Given the description of an element on the screen output the (x, y) to click on. 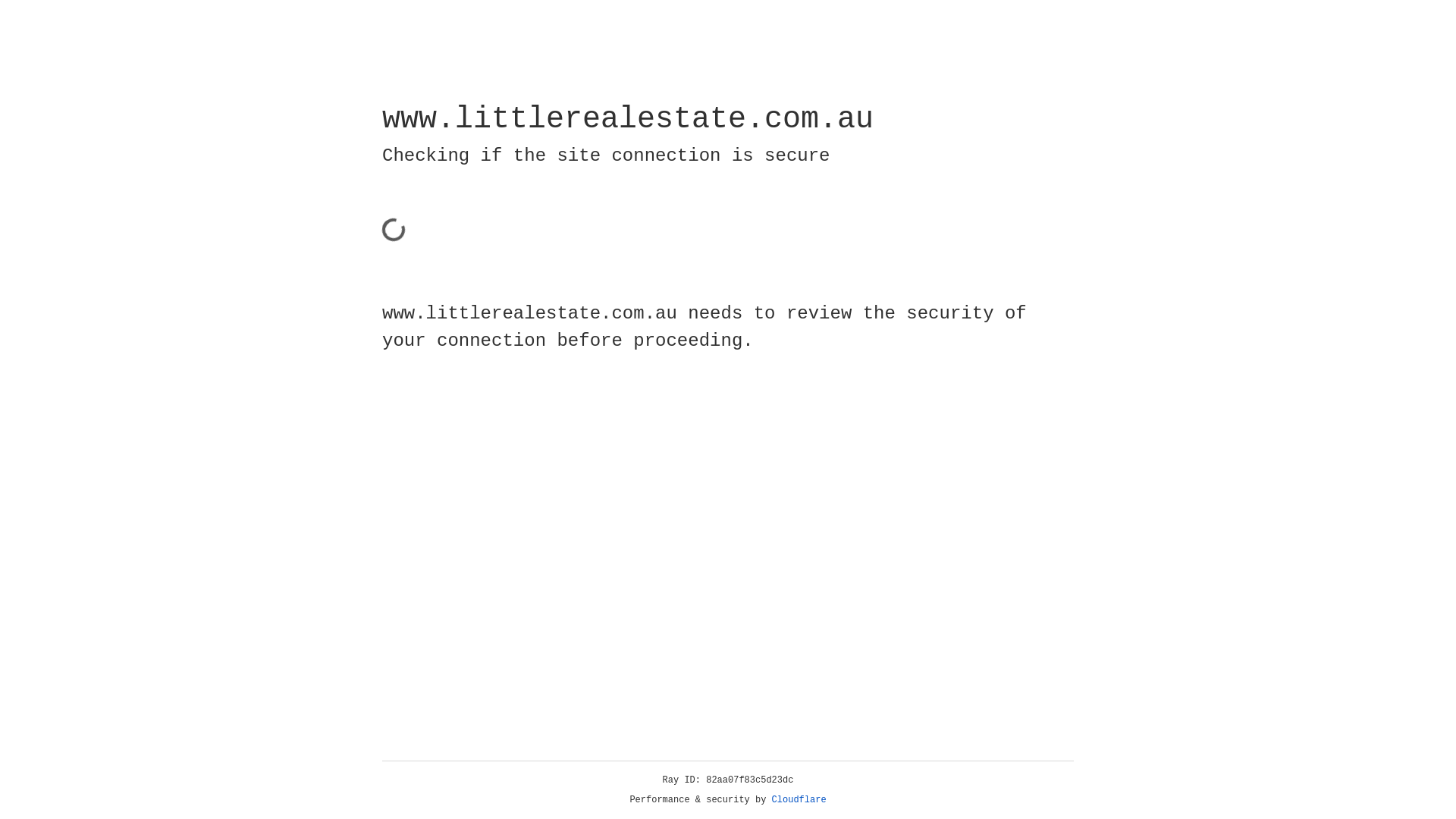
Cloudflare Element type: text (798, 799)
